Given the description of an element on the screen output the (x, y) to click on. 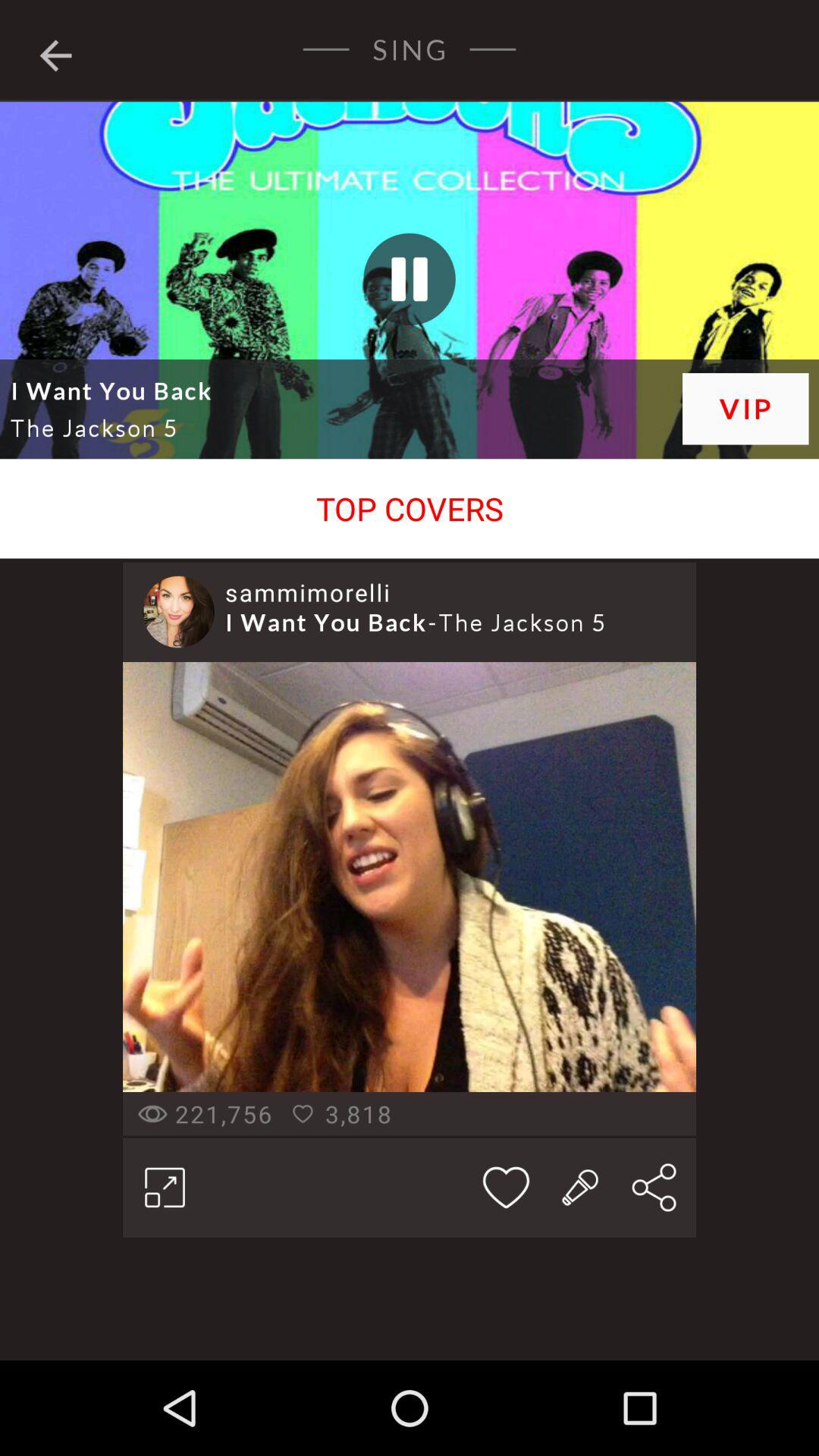
tap the icon below the top covers (307, 592)
